Given the description of an element on the screen output the (x, y) to click on. 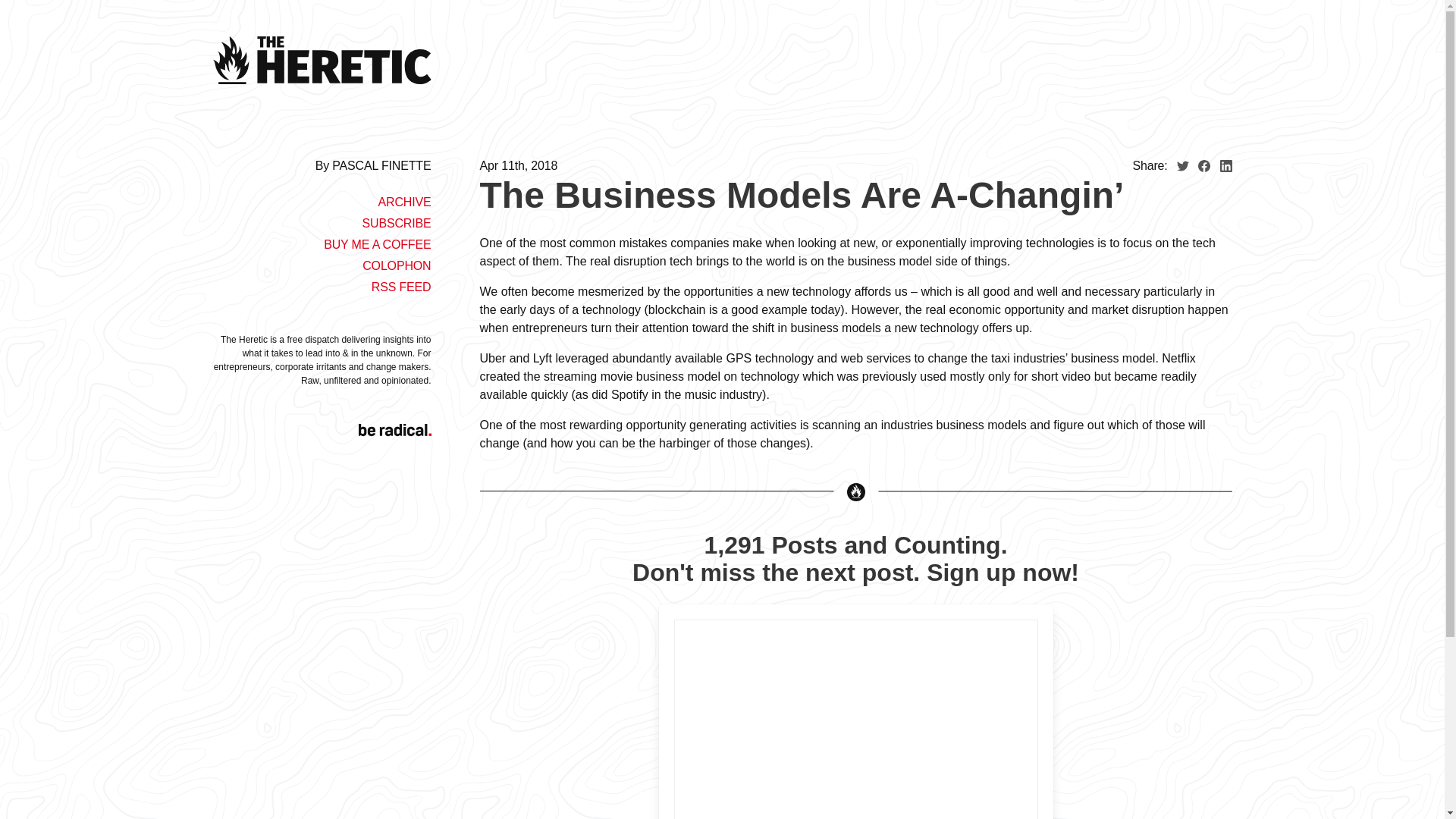
BUY ME A COFFEE (376, 244)
COLOPHON (396, 265)
RSS FEED (400, 286)
ARCHIVE (403, 201)
SUBSCRIBE (395, 223)
